Given the description of an element on the screen output the (x, y) to click on. 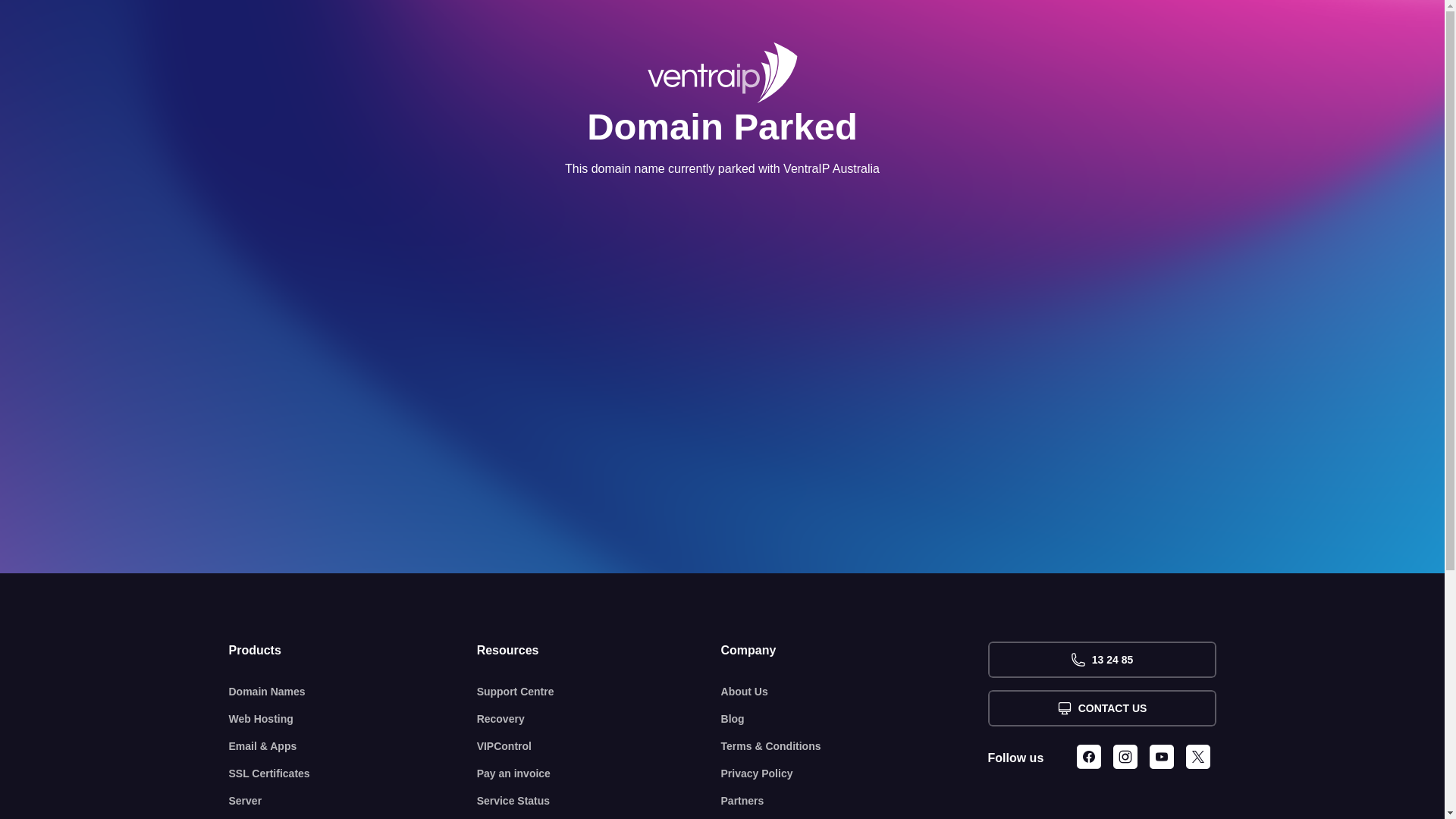
Server Element type: text (352, 800)
Pay an invoice Element type: text (598, 773)
SSL Certificates Element type: text (352, 773)
Service Status Element type: text (598, 800)
Support Centre Element type: text (598, 691)
Web Hosting Element type: text (352, 718)
VIPControl Element type: text (598, 745)
13 24 85 Element type: text (1101, 659)
Privacy Policy Element type: text (854, 773)
Domain Names Element type: text (352, 691)
Email & Apps Element type: text (352, 745)
Recovery Element type: text (598, 718)
Terms & Conditions Element type: text (854, 745)
Blog Element type: text (854, 718)
About Us Element type: text (854, 691)
CONTACT US Element type: text (1101, 708)
Partners Element type: text (854, 800)
